Given the description of an element on the screen output the (x, y) to click on. 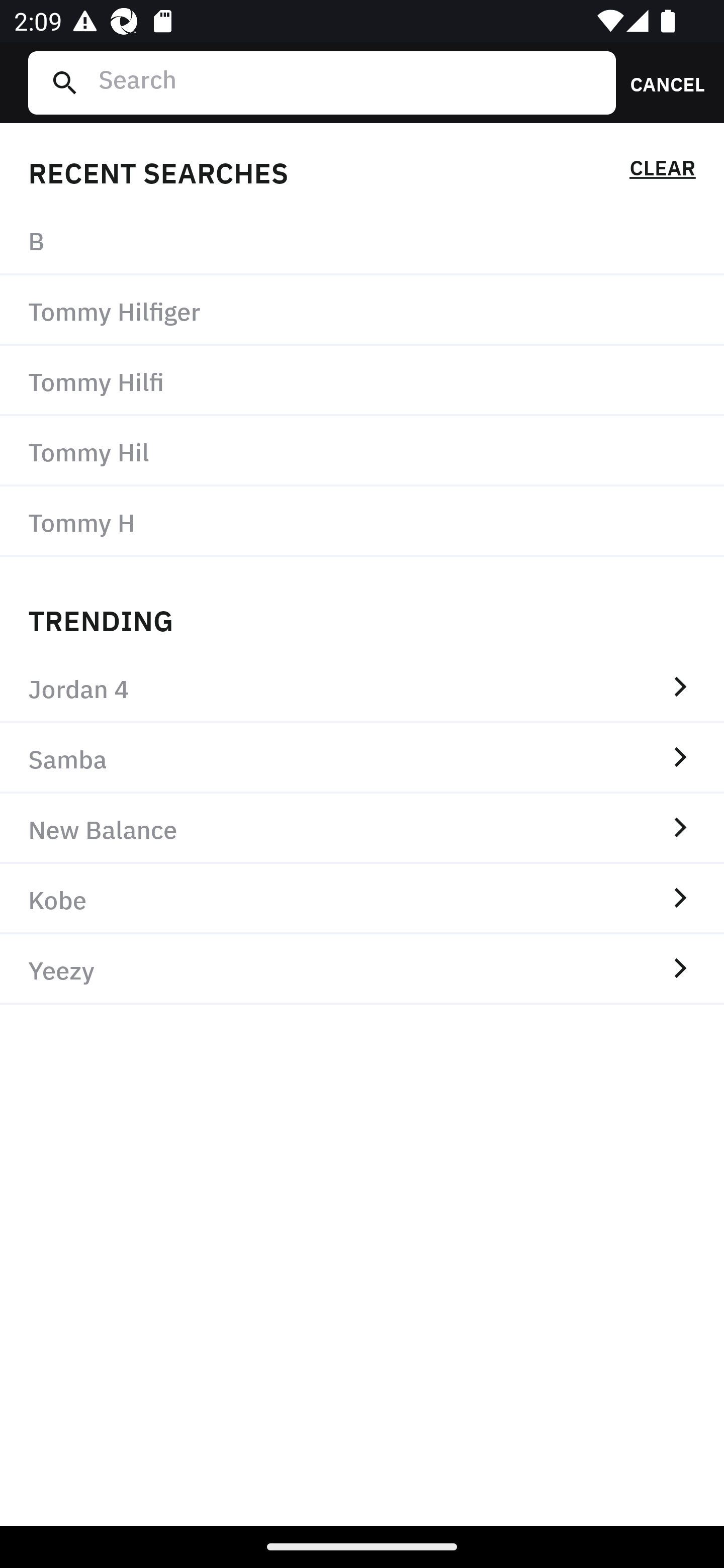
CANCEL (660, 82)
Search (349, 82)
CLEAR (662, 170)
B (362, 240)
Tommy Hilfiger (362, 310)
Tommy Hilfi (362, 380)
Tommy Hil (362, 450)
Tommy H (362, 521)
Jordan 4  (362, 687)
Samba  (362, 757)
New Balance  (362, 828)
Kobe  (362, 898)
Yeezy  (362, 969)
